Given the description of an element on the screen output the (x, y) to click on. 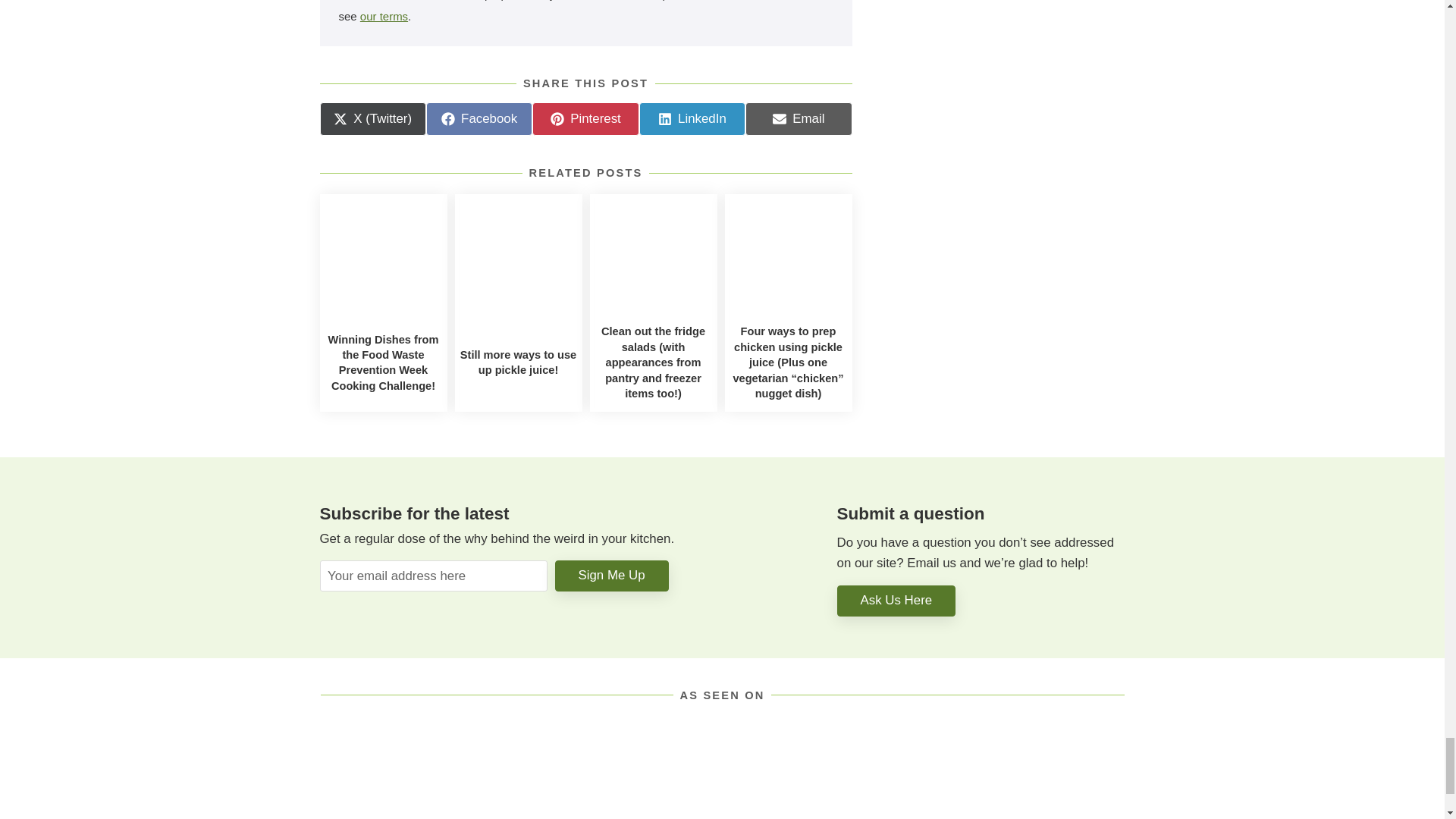
our terms (585, 118)
